Given the description of an element on the screen output the (x, y) to click on. 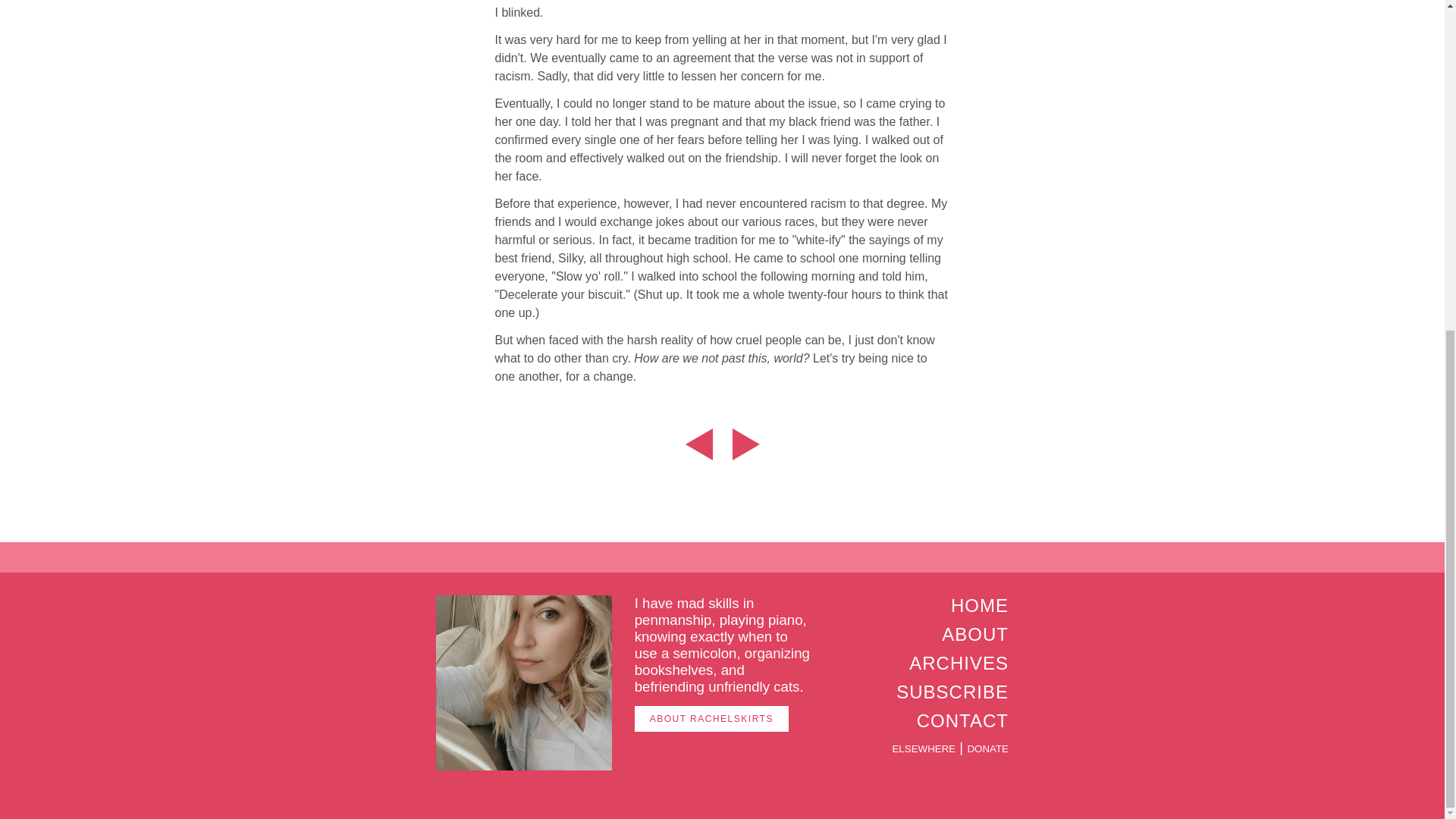
ABOUT (975, 634)
SUBSCRIBE (952, 691)
HOME (979, 605)
DONATE (987, 748)
ARCHIVES (958, 662)
CONTACT (963, 720)
ELSEWHERE (923, 748)
ABOUT RACHELSKIRTS (711, 718)
